Given the description of an element on the screen output the (x, y) to click on. 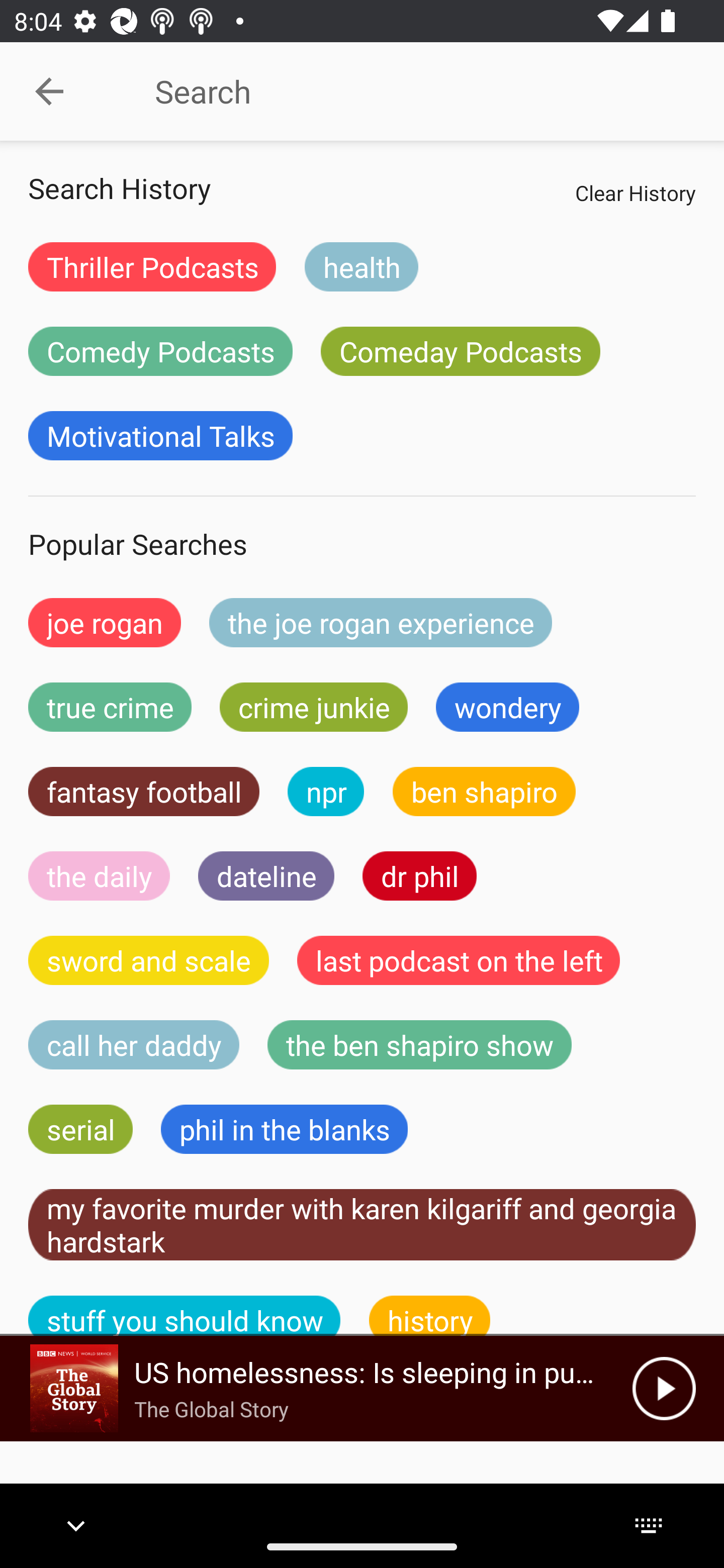
Collapse (49, 91)
Search (407, 91)
Clear History (634, 192)
Thriller Podcasts (152, 266)
health (361, 266)
Comedy Podcasts (160, 351)
Comeday Podcasts (460, 351)
Motivational Talks (160, 435)
joe rogan (104, 622)
the joe rogan experience (380, 622)
true crime (109, 707)
crime junkie (313, 707)
wondery (507, 707)
fantasy football (143, 791)
npr (325, 791)
ben shapiro (483, 791)
the daily (99, 875)
dateline (266, 875)
dr phil (419, 875)
sword and scale (148, 960)
last podcast on the left (458, 960)
call her daddy (133, 1044)
the ben shapiro show (419, 1044)
serial (80, 1128)
phil in the blanks (283, 1128)
stuff you should know (184, 1315)
history (429, 1315)
Play (663, 1388)
